Given the description of an element on the screen output the (x, y) to click on. 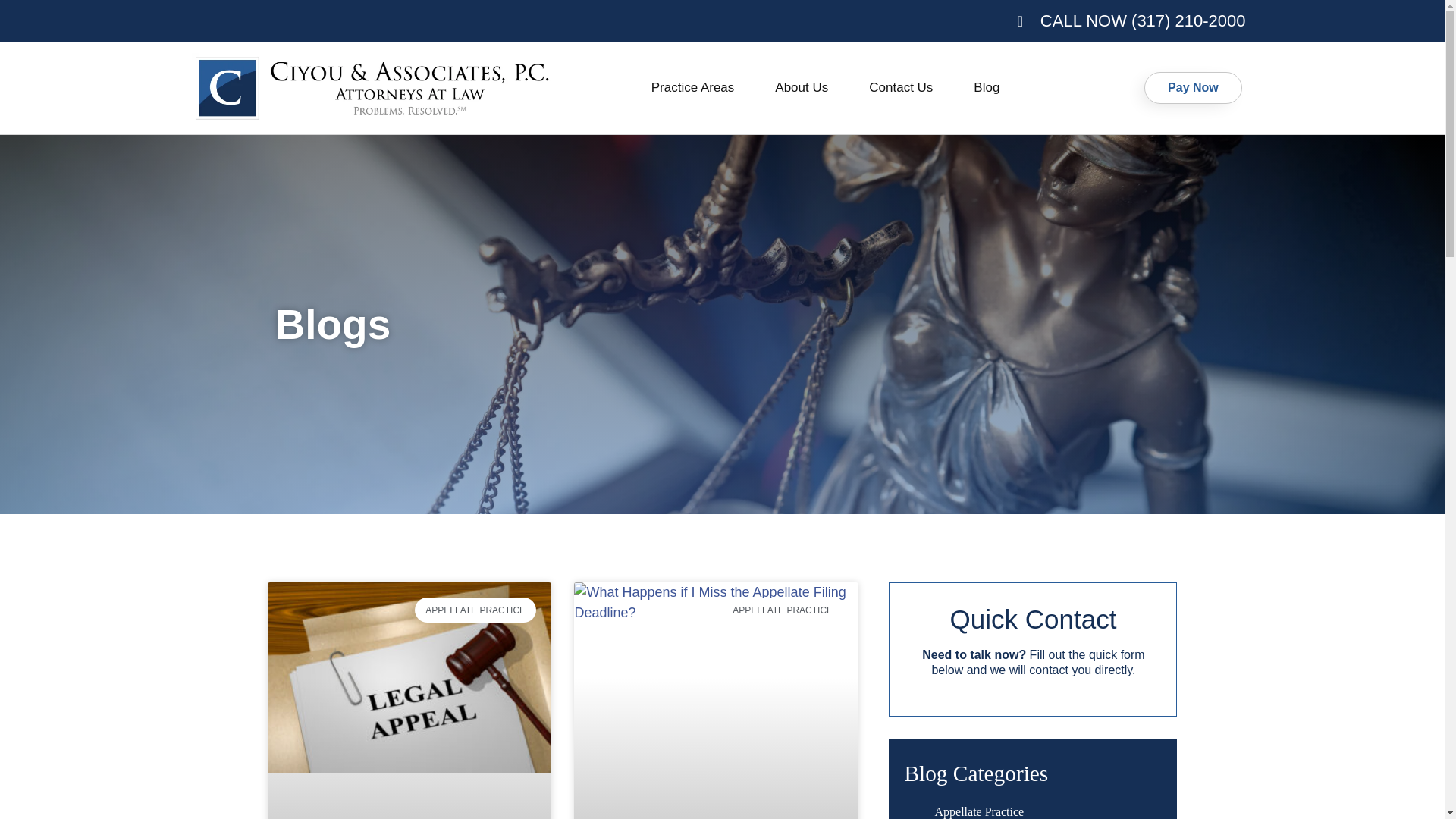
Practice Areas (692, 87)
Blog (986, 87)
About Us (801, 87)
Contact Us (900, 87)
Pay Now (1192, 88)
